Given the description of an element on the screen output the (x, y) to click on. 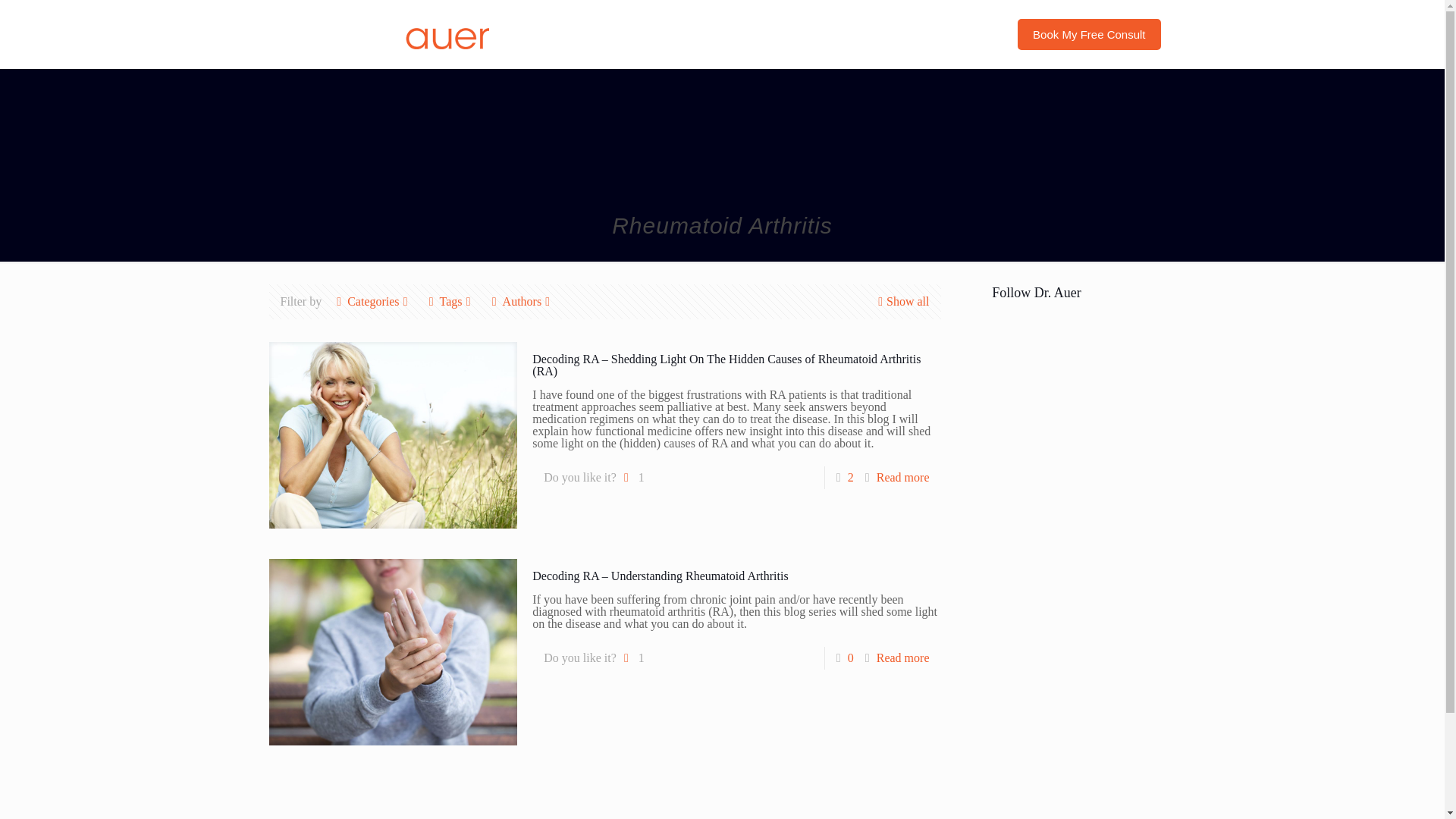
Functional Medicine (932, 33)
Tags (451, 300)
Show all (901, 300)
Doctor Auer (385, 33)
About (755, 33)
Book My Free Consult (1088, 33)
Categories (373, 300)
Authors (521, 300)
Treatment (826, 33)
